Given the description of an element on the screen output the (x, y) to click on. 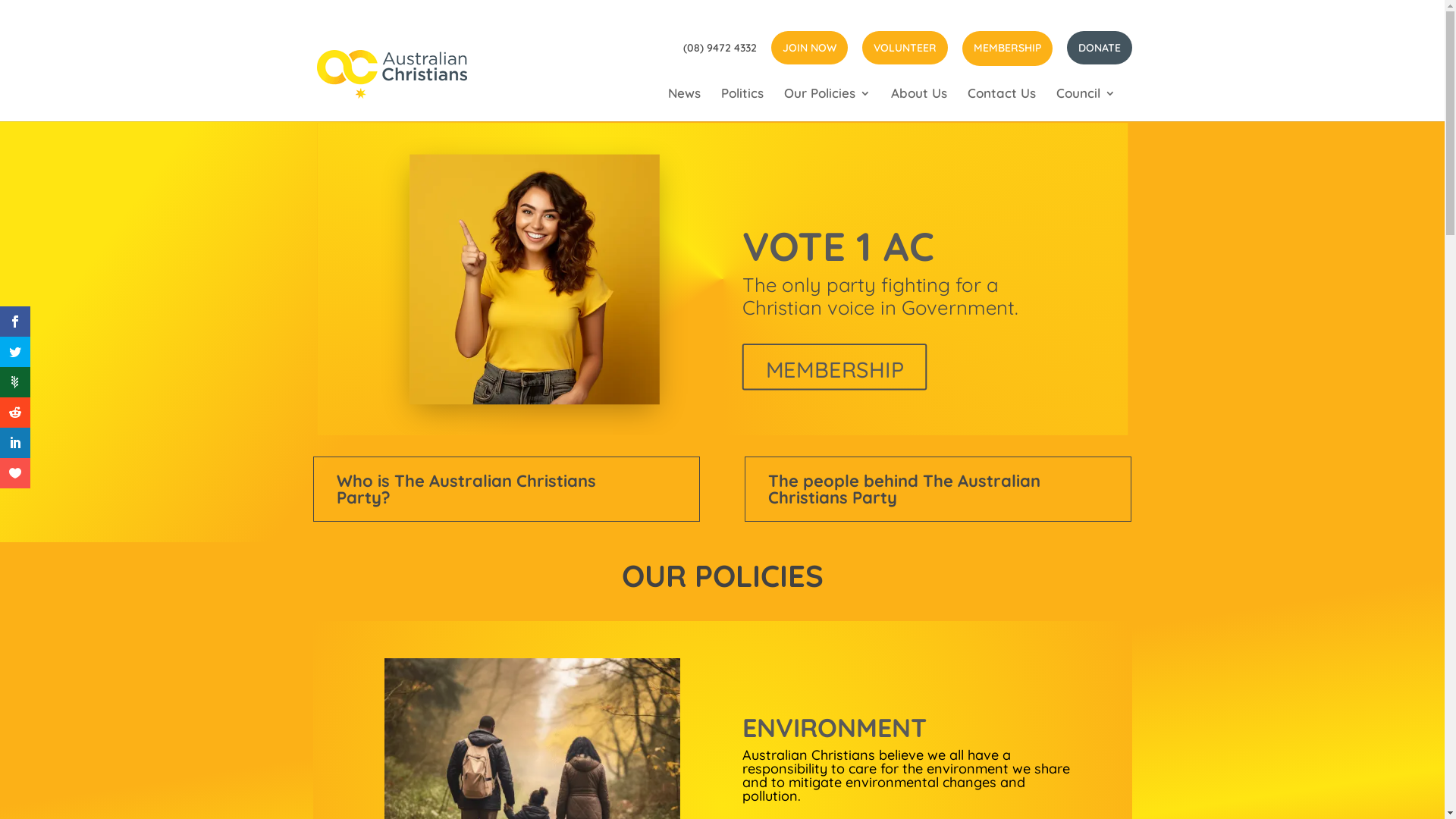
Council Element type: text (1084, 104)
Politics Element type: text (741, 104)
RELIGIOUS FREEDOM Element type: text (871, 734)
Our Policies Element type: text (827, 104)
MEMBERSHIP Element type: text (1006, 47)
DONATE Element type: text (1098, 46)
VOTE 1 AUSTRALIAN CHRISTIANS Element type: text (863, 257)
(08) 9472 4332 Element type: text (719, 51)
JOIN NOW Element type: text (808, 46)
News Element type: text (683, 104)
About Us Element type: text (918, 104)
JOIN NOW Element type: text (820, 394)
VOLUNTEER Element type: text (904, 46)
Contact Us Element type: text (1001, 104)
